Given the description of an element on the screen output the (x, y) to click on. 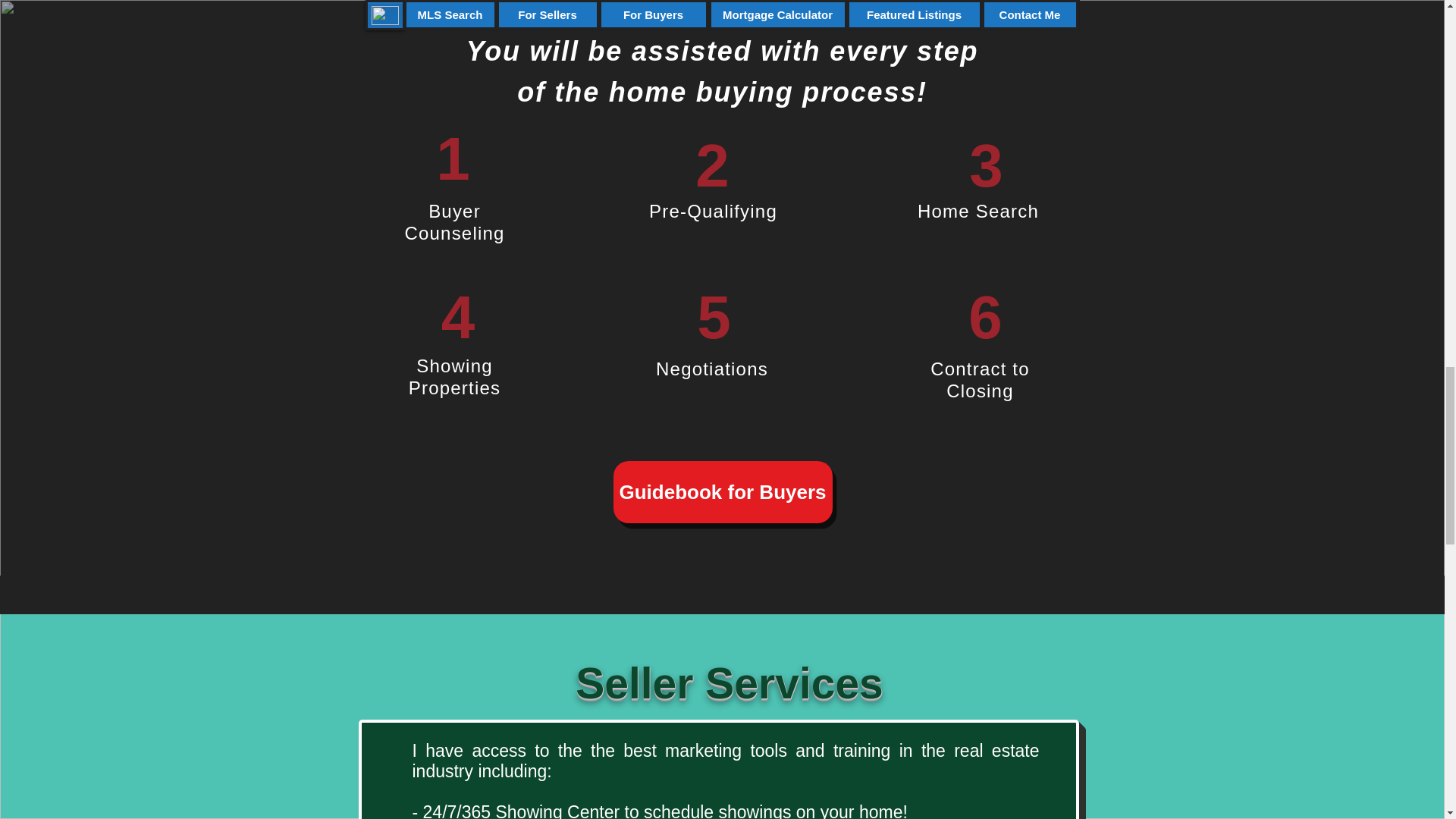
Pre-Qualifying (713, 210)
Showing Properties (454, 376)
Negotiations (712, 368)
Home Search (978, 210)
Buyer Counseling (453, 221)
